Given the description of an element on the screen output the (x, y) to click on. 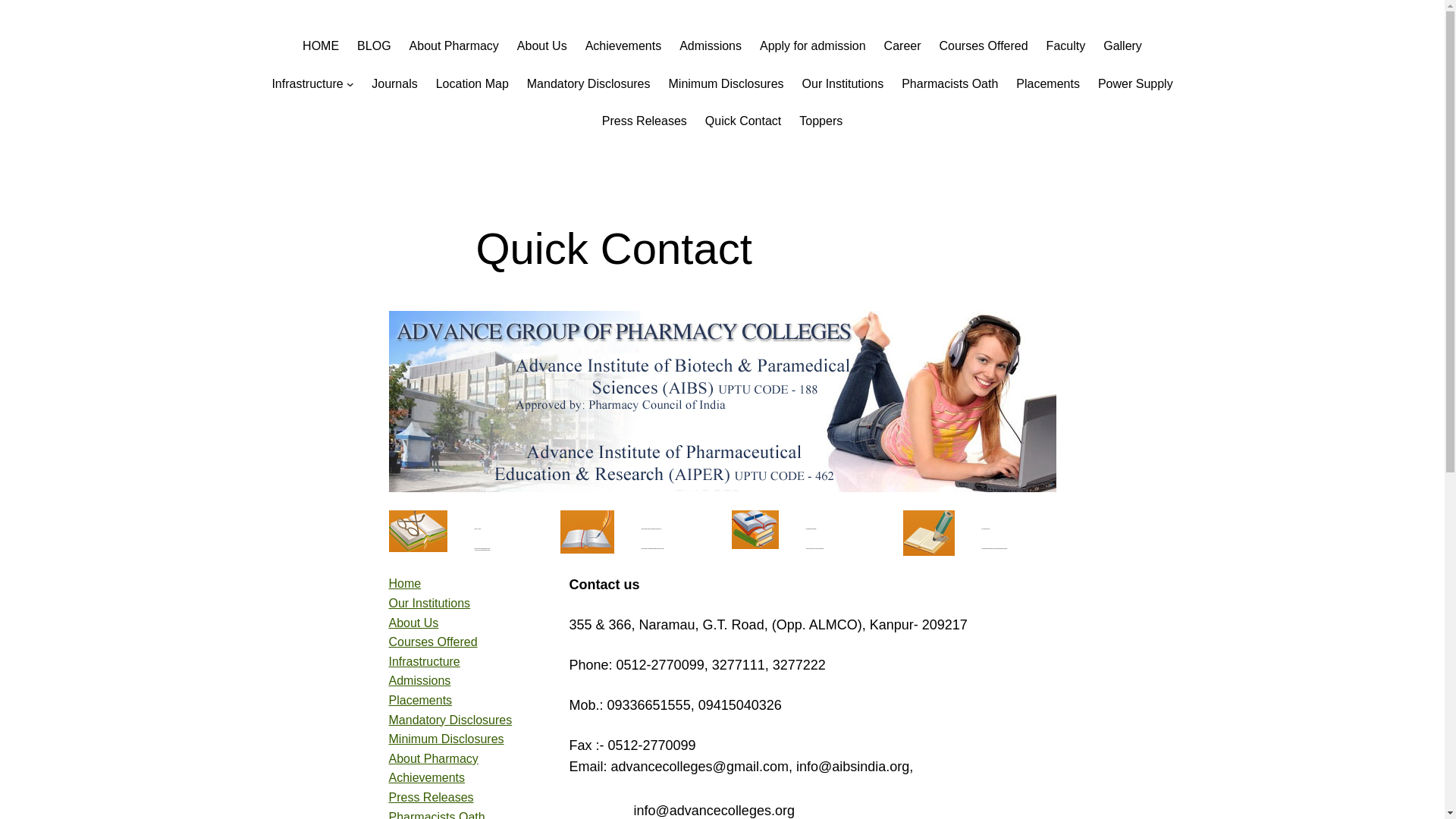
Pharmacists Oath (949, 84)
Apply for admission (813, 46)
Quick Contact (742, 121)
Admissions (710, 46)
Power Supply (1135, 84)
About Pharmacy (454, 46)
Mandatory Disclosures (588, 84)
Journals (393, 84)
Admissions (418, 680)
BLOG (373, 46)
Press Releases (644, 121)
Gallery (1122, 46)
Placements (1048, 84)
About Us (541, 46)
Toppers (821, 121)
